Given the description of an element on the screen output the (x, y) to click on. 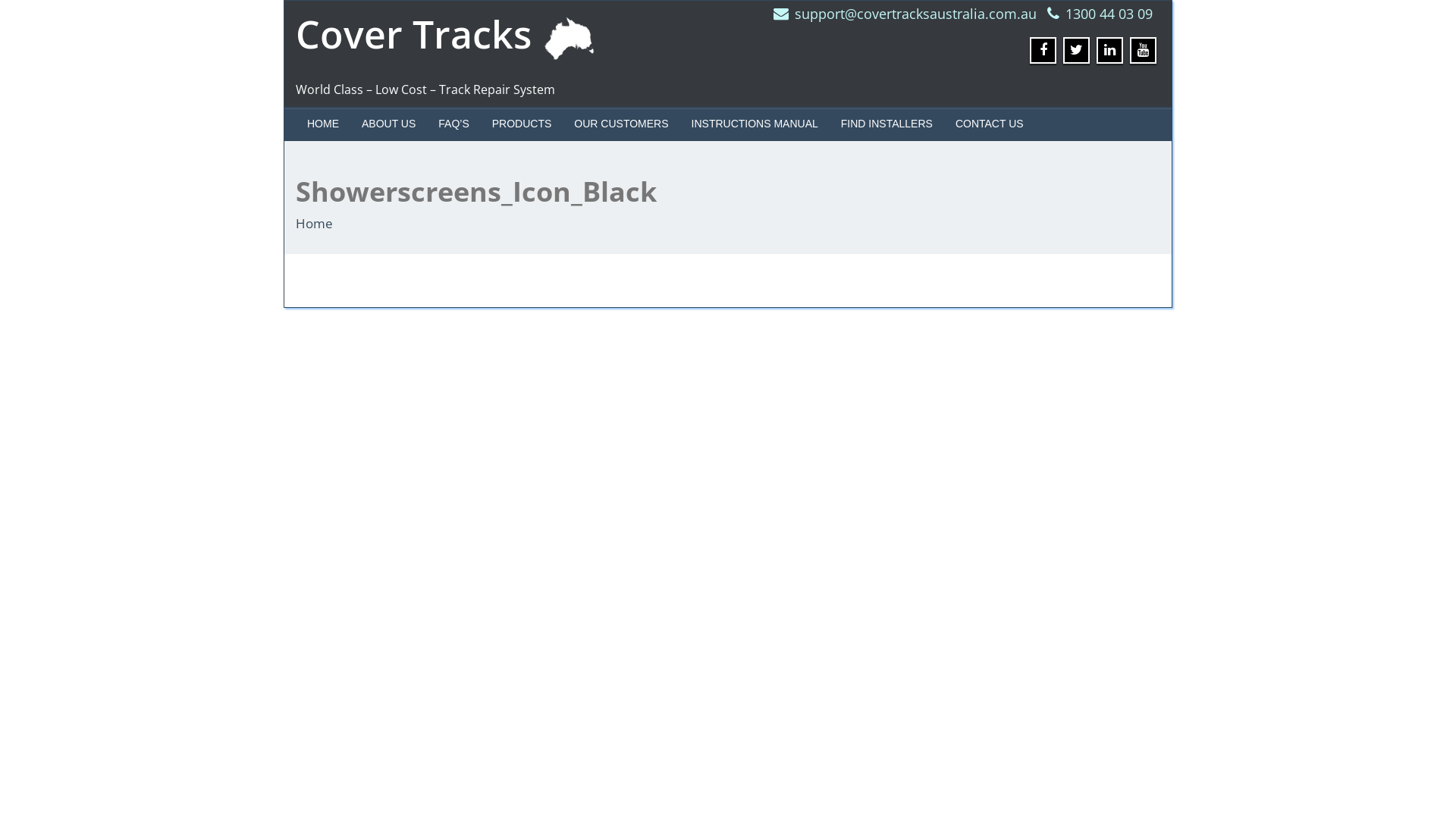
HOME Element type: text (322, 123)
INSTRUCTIONS MANUAL Element type: text (754, 123)
OUR CUSTOMERS Element type: text (620, 123)
ABOUT US Element type: text (388, 123)
Youtube Element type: hover (1142, 50)
Linkedin Element type: hover (1109, 50)
CONTACT US Element type: text (989, 123)
Facebook Element type: hover (1042, 50)
PRODUCTS Element type: text (521, 123)
Twiiter Element type: hover (1076, 50)
Cover Tracks Element type: text (451, 33)
FIND INSTALLERS Element type: text (886, 123)
Home Element type: text (313, 223)
support@covertracksaustralia.com.au Element type: text (915, 13)
